Given the description of an element on the screen output the (x, y) to click on. 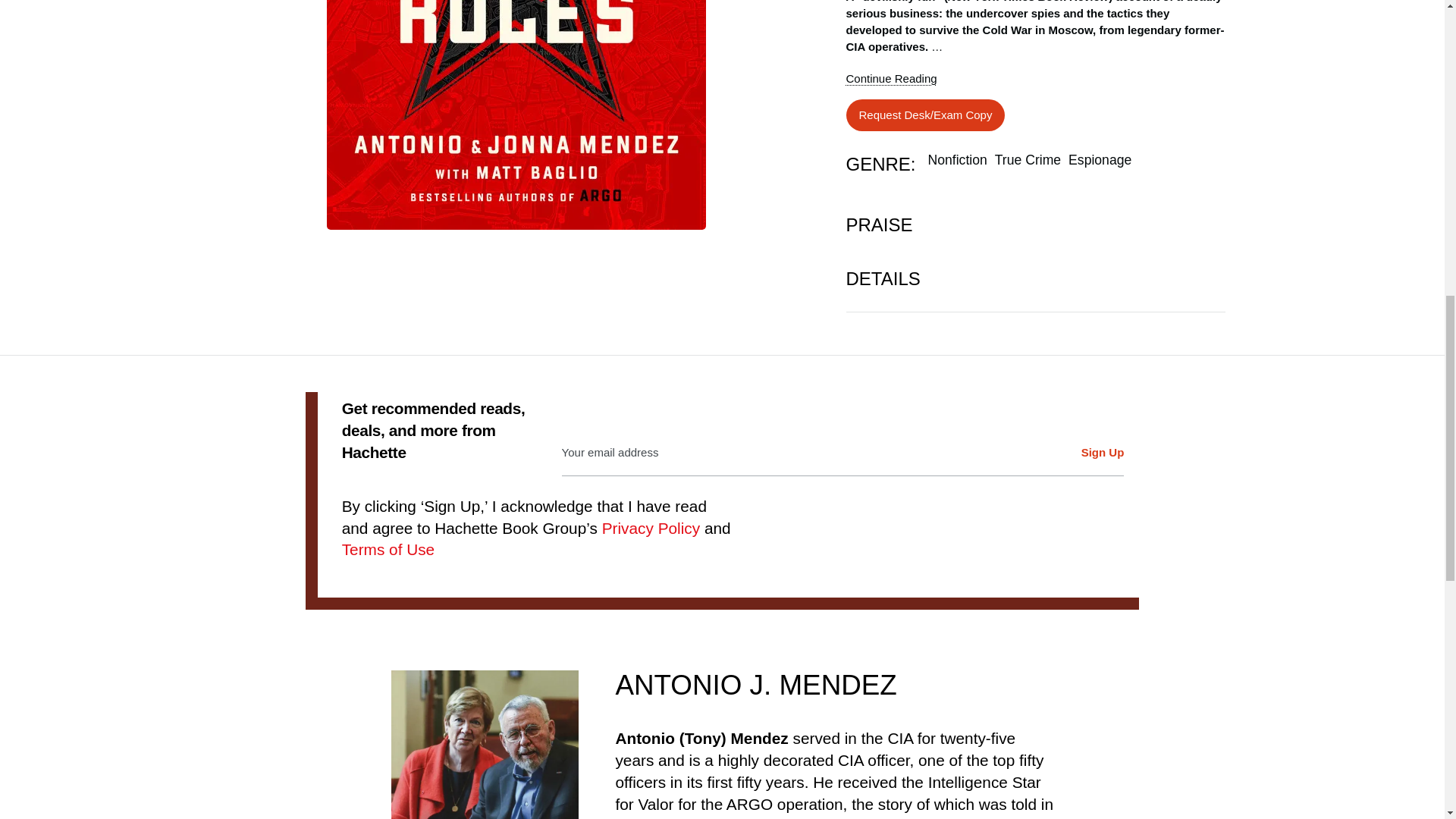
Continue Reading (898, 78)
Nonfiction (957, 159)
Espionage (1099, 159)
PRAISE (1035, 224)
True Crime (1027, 159)
DETAILS (1035, 278)
Open the full-size image (778, 65)
